Given the description of an element on the screen output the (x, y) to click on. 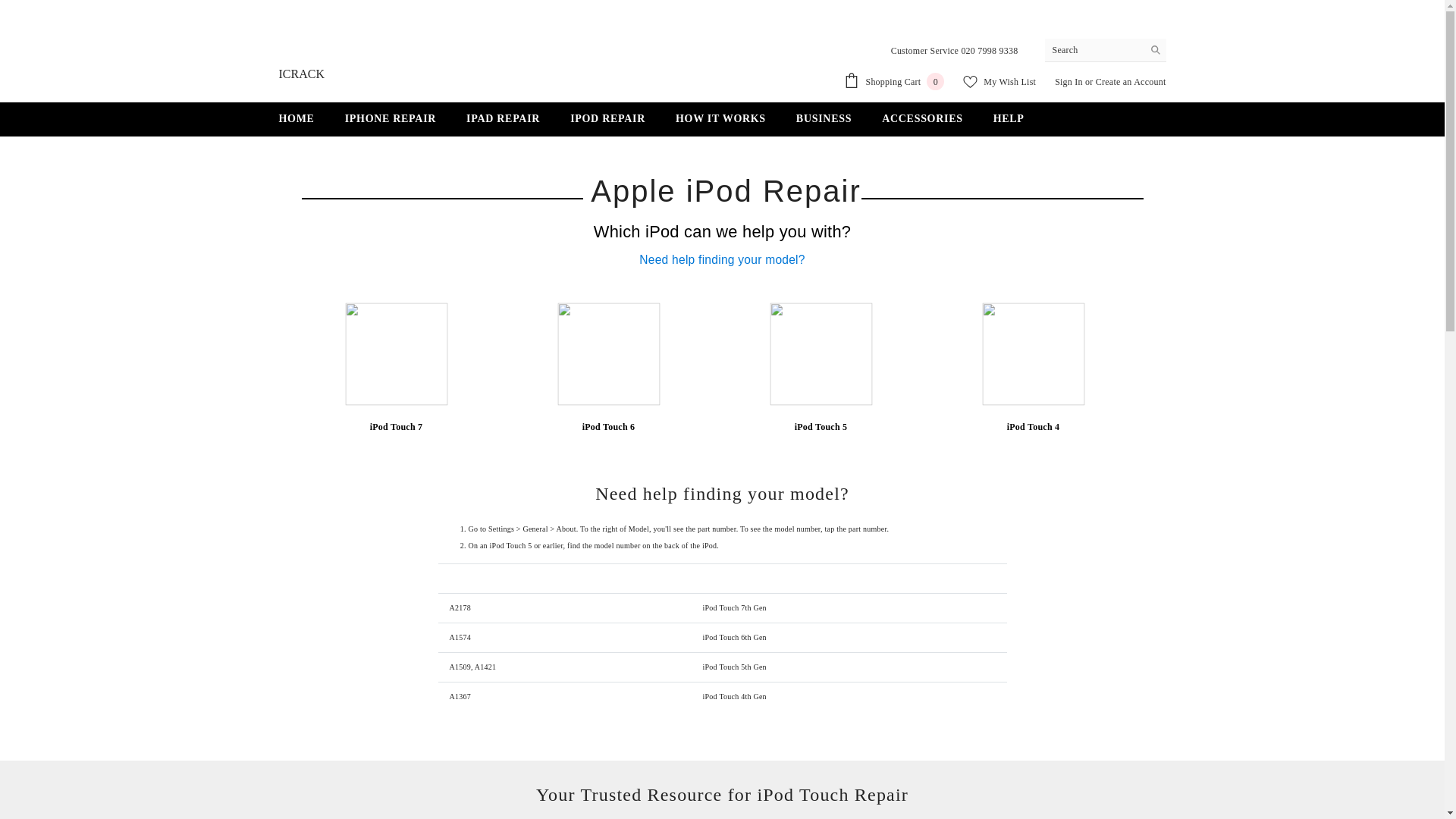
IPHONE REPAIR (390, 119)
HOME (296, 119)
My Wish List (893, 81)
Sign In (998, 81)
Create an Account (1069, 81)
